Given the description of an element on the screen output the (x, y) to click on. 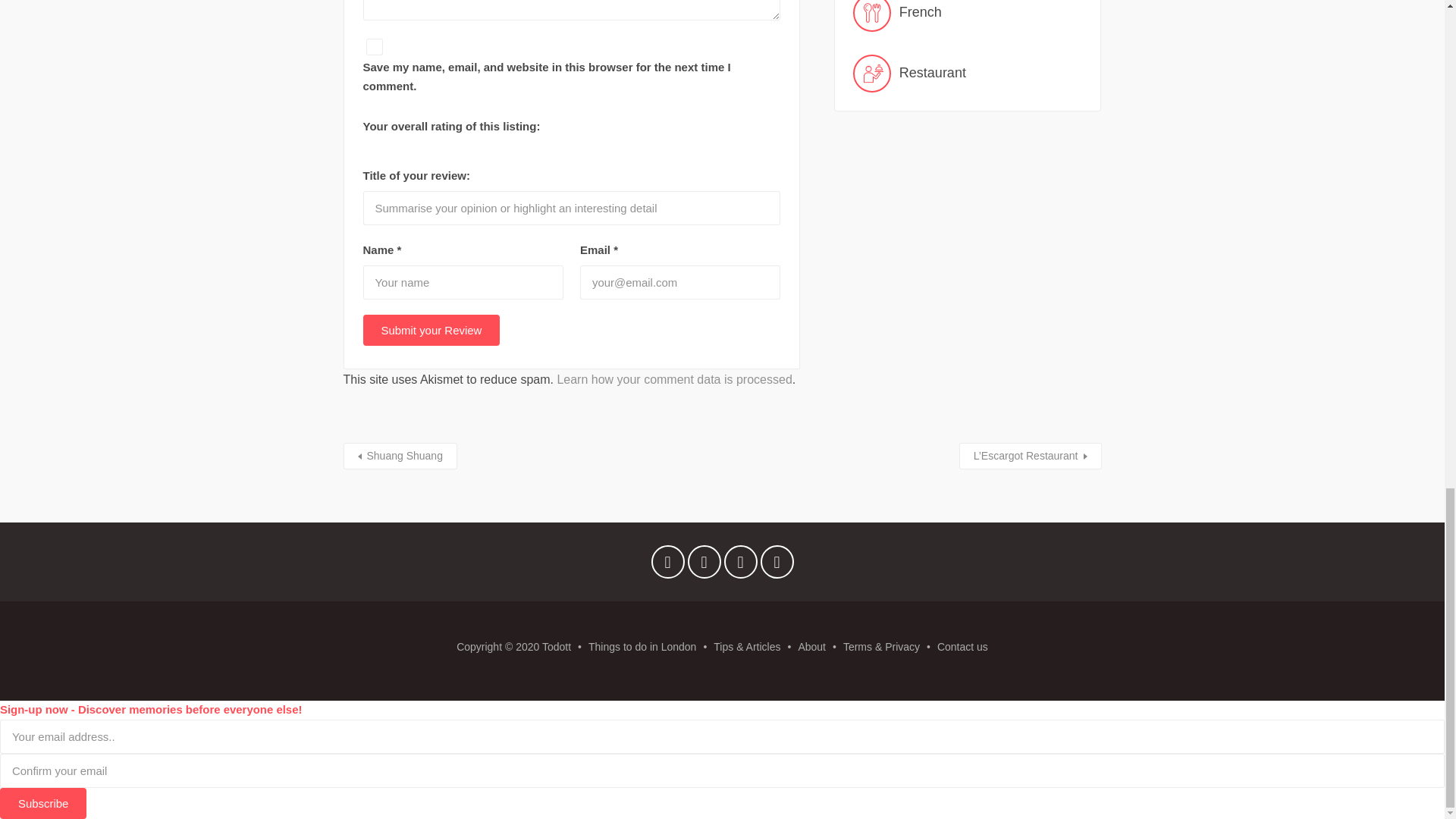
Things to do in London (641, 646)
Submit your Review (430, 329)
Restaurant (967, 73)
yes (373, 46)
French (967, 15)
Submit your Review (430, 329)
Learn how your comment data is processed (674, 379)
Shuang Shuang (399, 456)
